Given the description of an element on the screen output the (x, y) to click on. 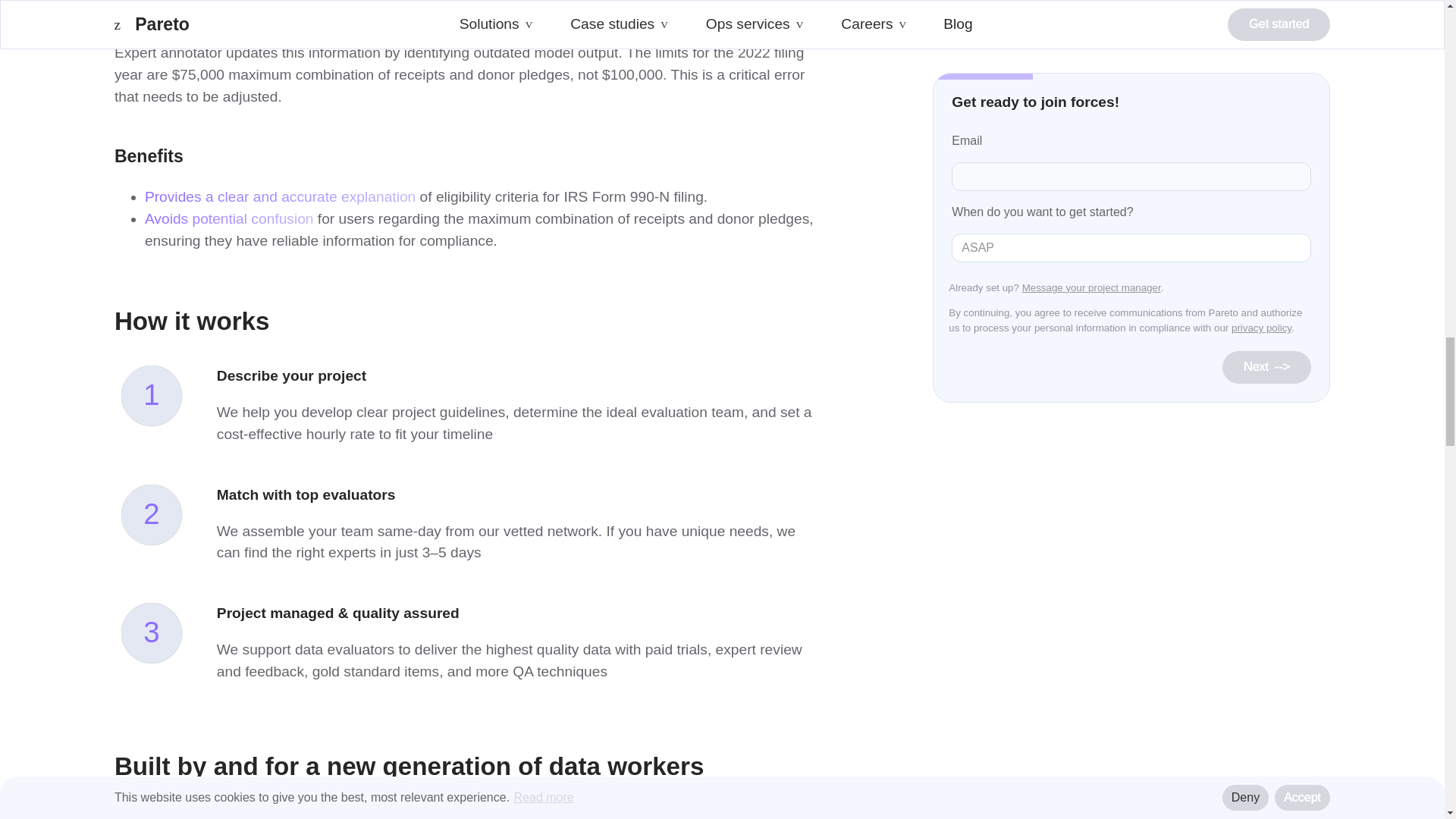
1 (158, 403)
3 (158, 640)
2 (158, 522)
